Given the description of an element on the screen output the (x, y) to click on. 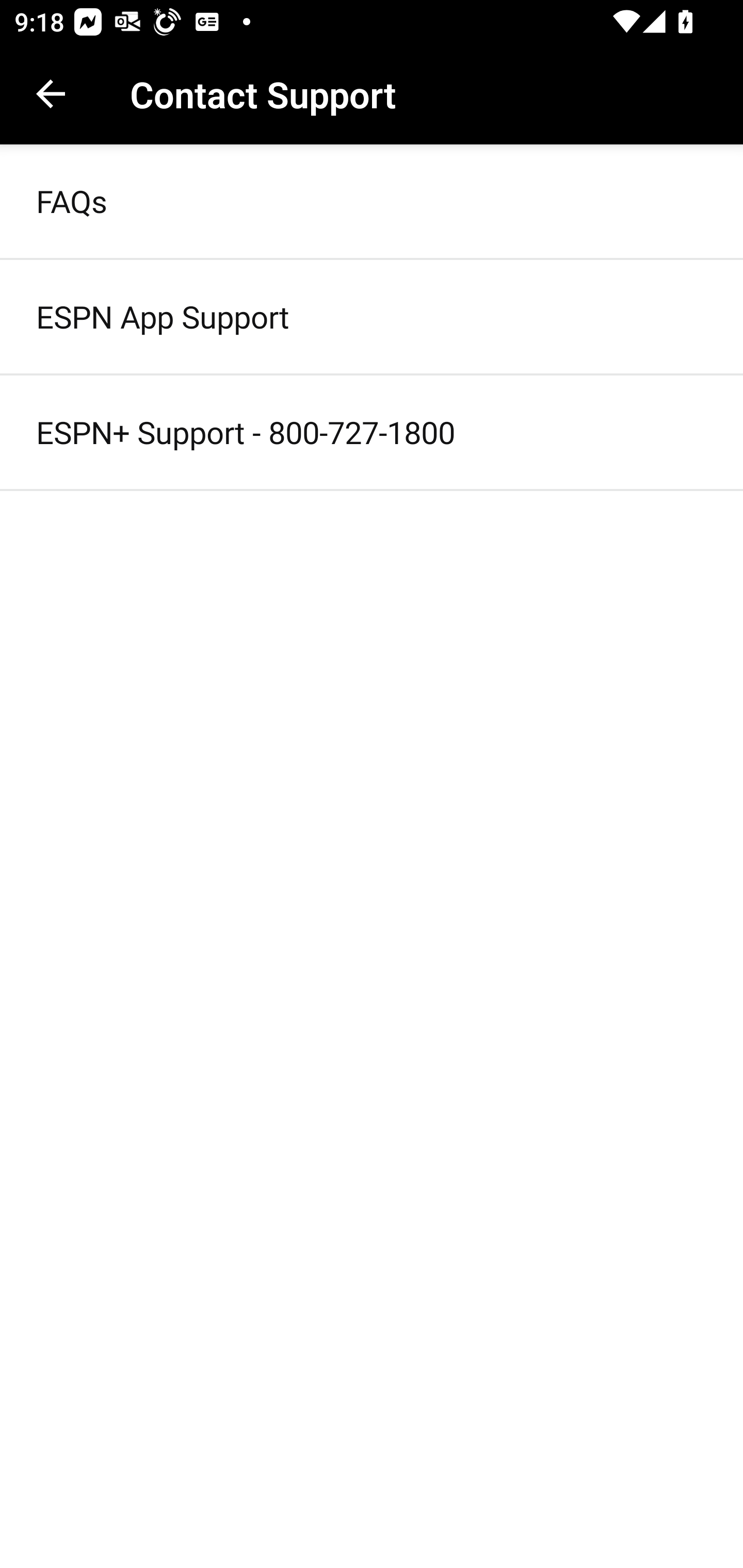
back.button (50, 93)
FAQs (371, 200)
ESPN App Support (371, 316)
ESPN+ Support - 800-727-1800 (371, 431)
